Given the description of an element on the screen output the (x, y) to click on. 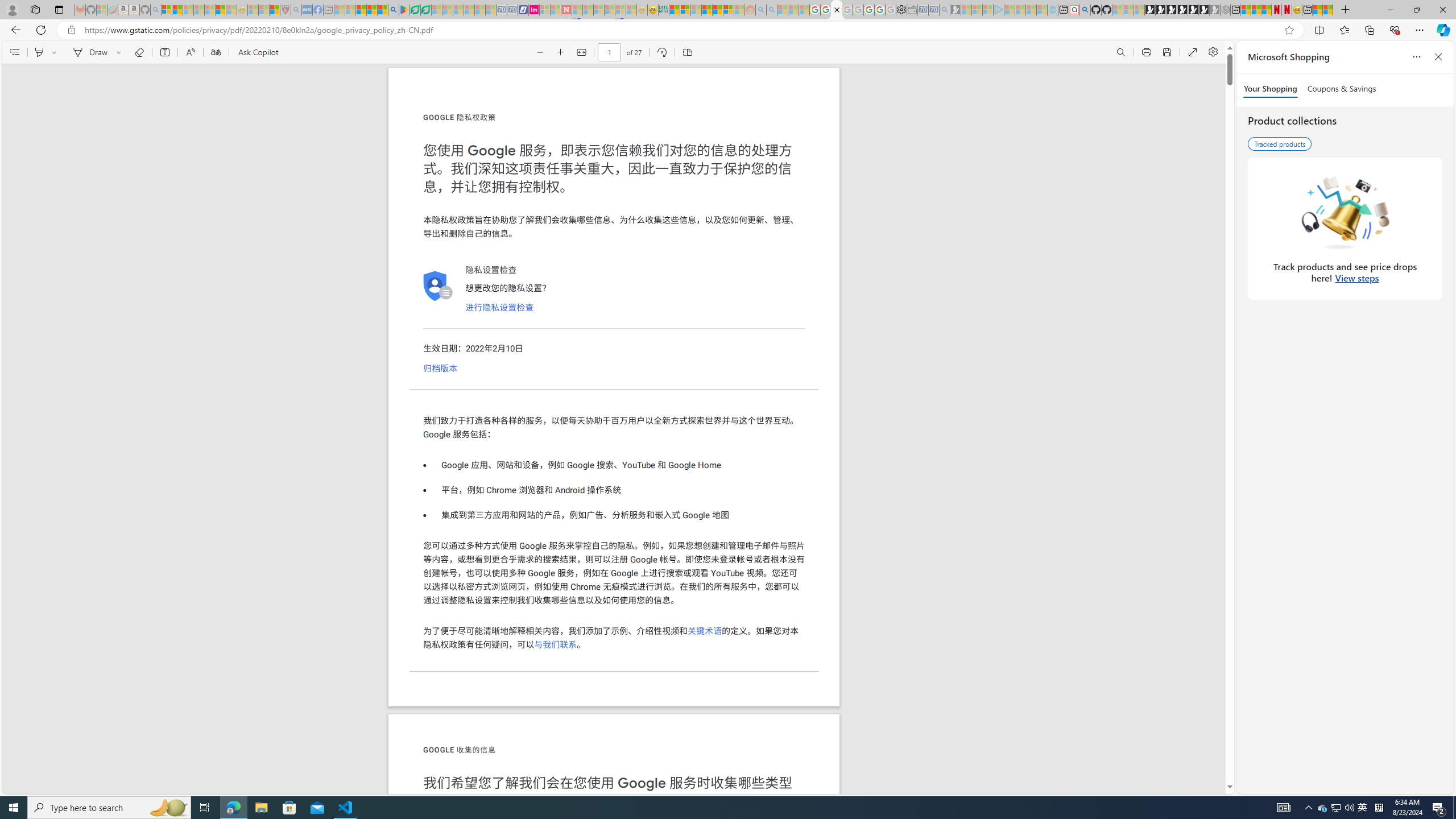
Kinda Frugal - MSN (717, 9)
Select a highlight color (56, 52)
Rotate (Ctrl+]) (661, 52)
